Given the description of an element on the screen output the (x, y) to click on. 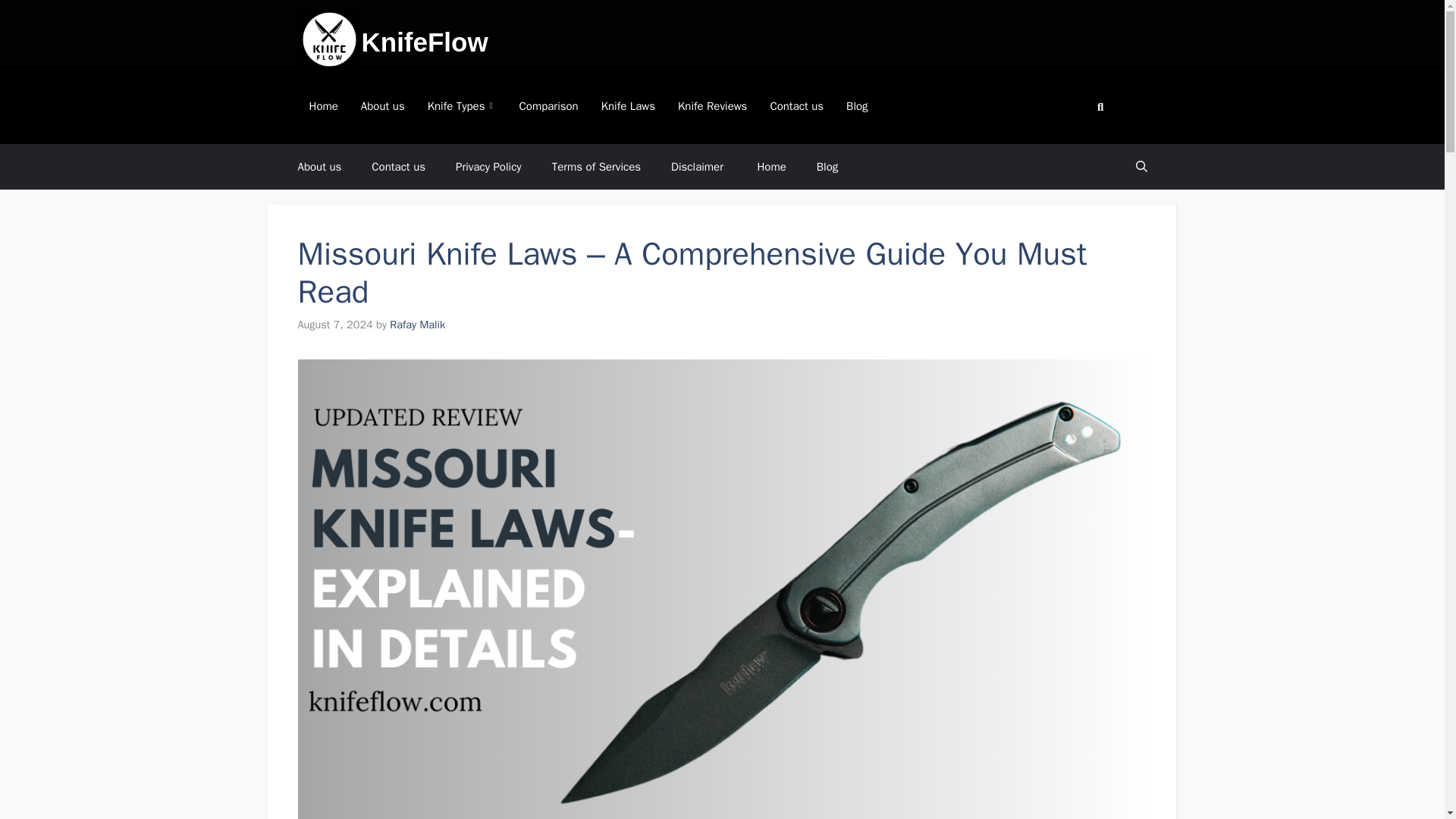
Comparison (548, 106)
Knife Types (462, 106)
Knife Laws (627, 106)
Privacy Policy (489, 166)
About us (319, 166)
Contact us (398, 166)
Disclaimer  (698, 166)
KnifeFlow (424, 41)
About us (382, 106)
Knife Reviews (712, 106)
